Given the description of an element on the screen output the (x, y) to click on. 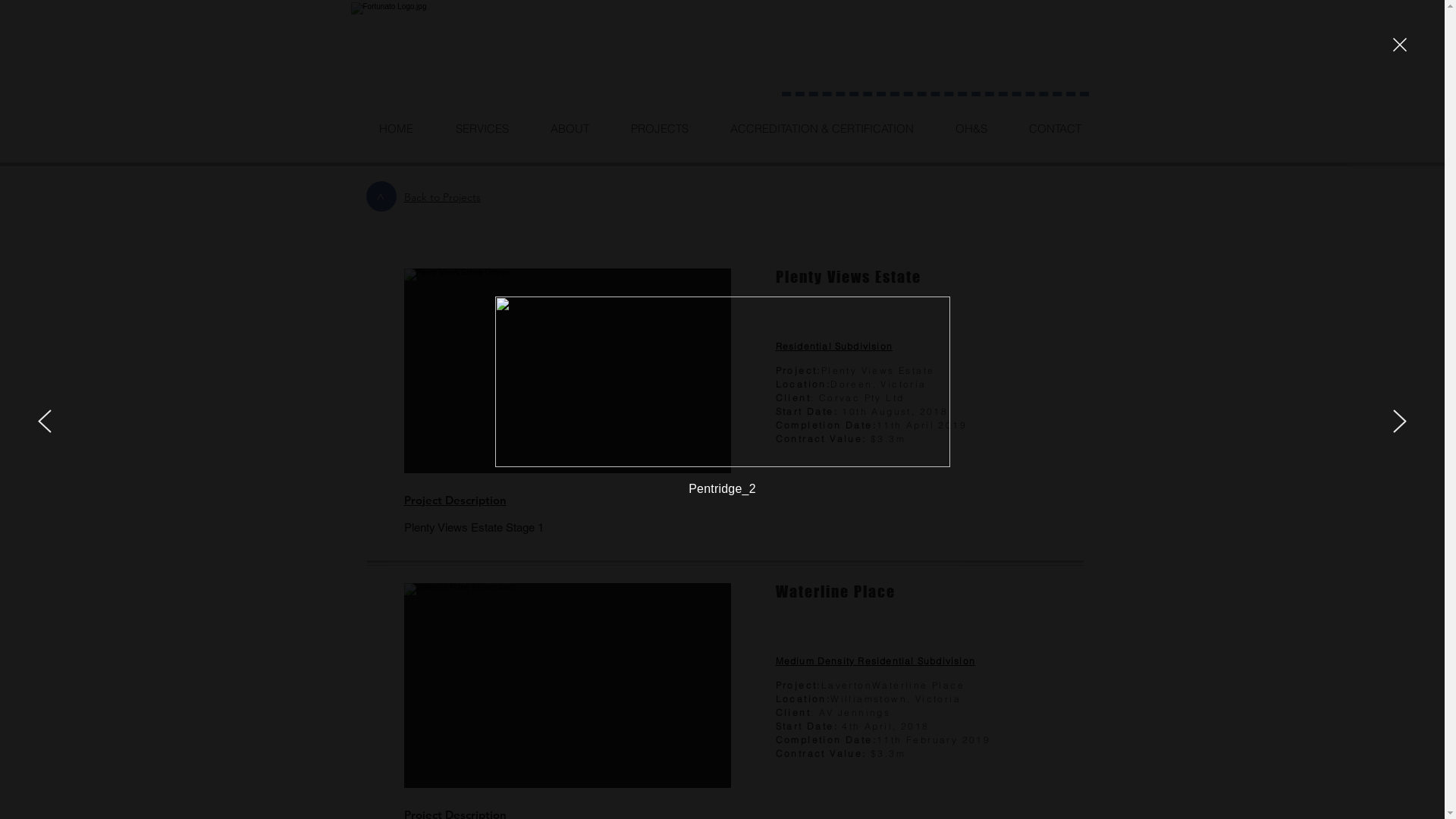
HOME Element type: text (395, 128)
ABOUT Element type: text (569, 128)
OH&S Element type: text (970, 128)
ACCREDITATION & CERTIFICATION Element type: text (820, 128)
SERVICES Element type: text (480, 128)
Back to Projects Element type: text (441, 196)
PROJECTS Element type: text (659, 128)
> Element type: text (380, 195)
CONTACT Element type: text (1054, 128)
